Given the description of an element on the screen output the (x, y) to click on. 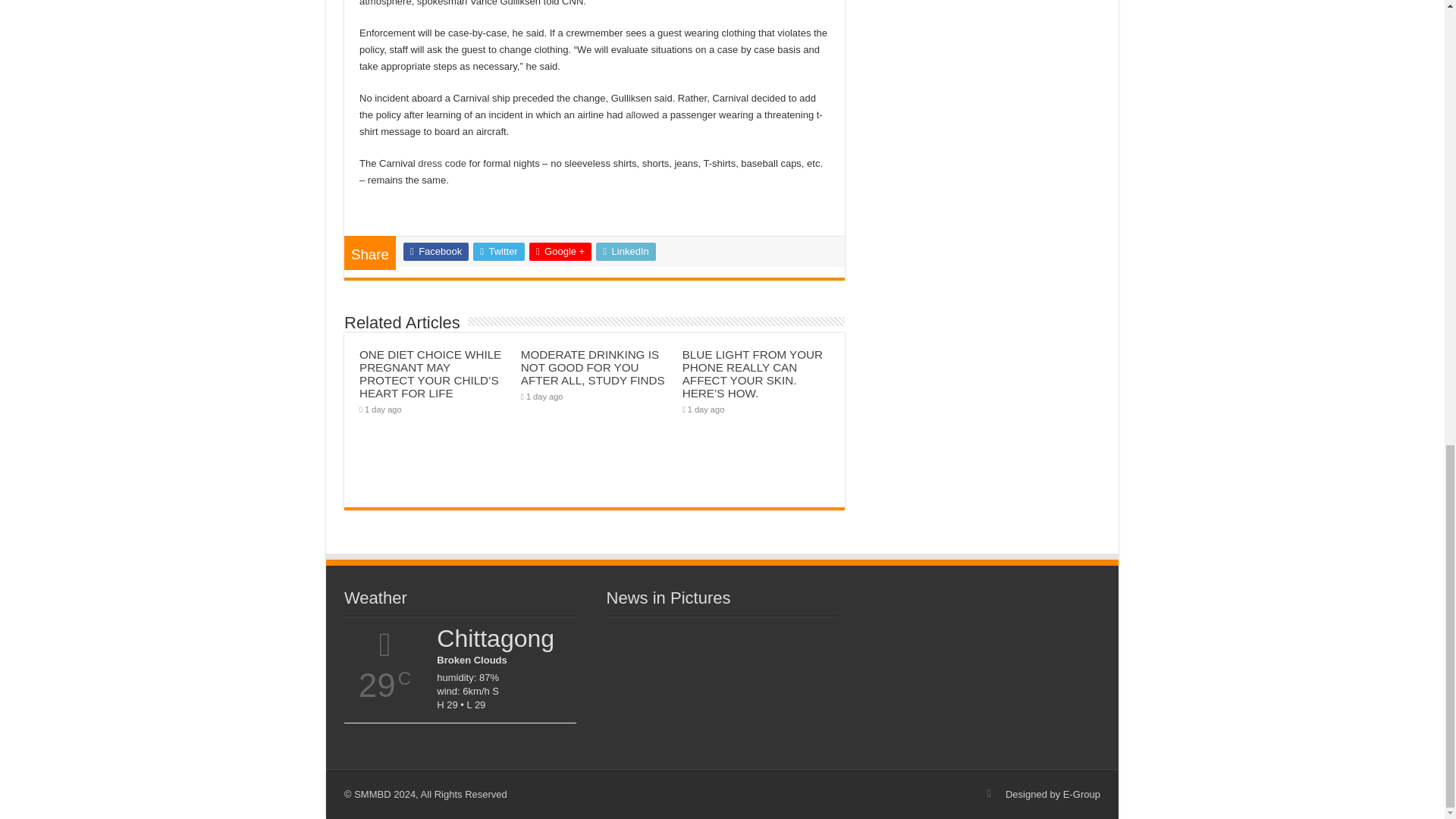
LinkedIn (625, 251)
dress code (441, 163)
allowed (642, 114)
MODERATE DRINKING IS NOT GOOD FOR YOU AFTER ALL, STUDY FINDS (593, 367)
Twitter (498, 251)
Facebook (435, 251)
